Given the description of an element on the screen output the (x, y) to click on. 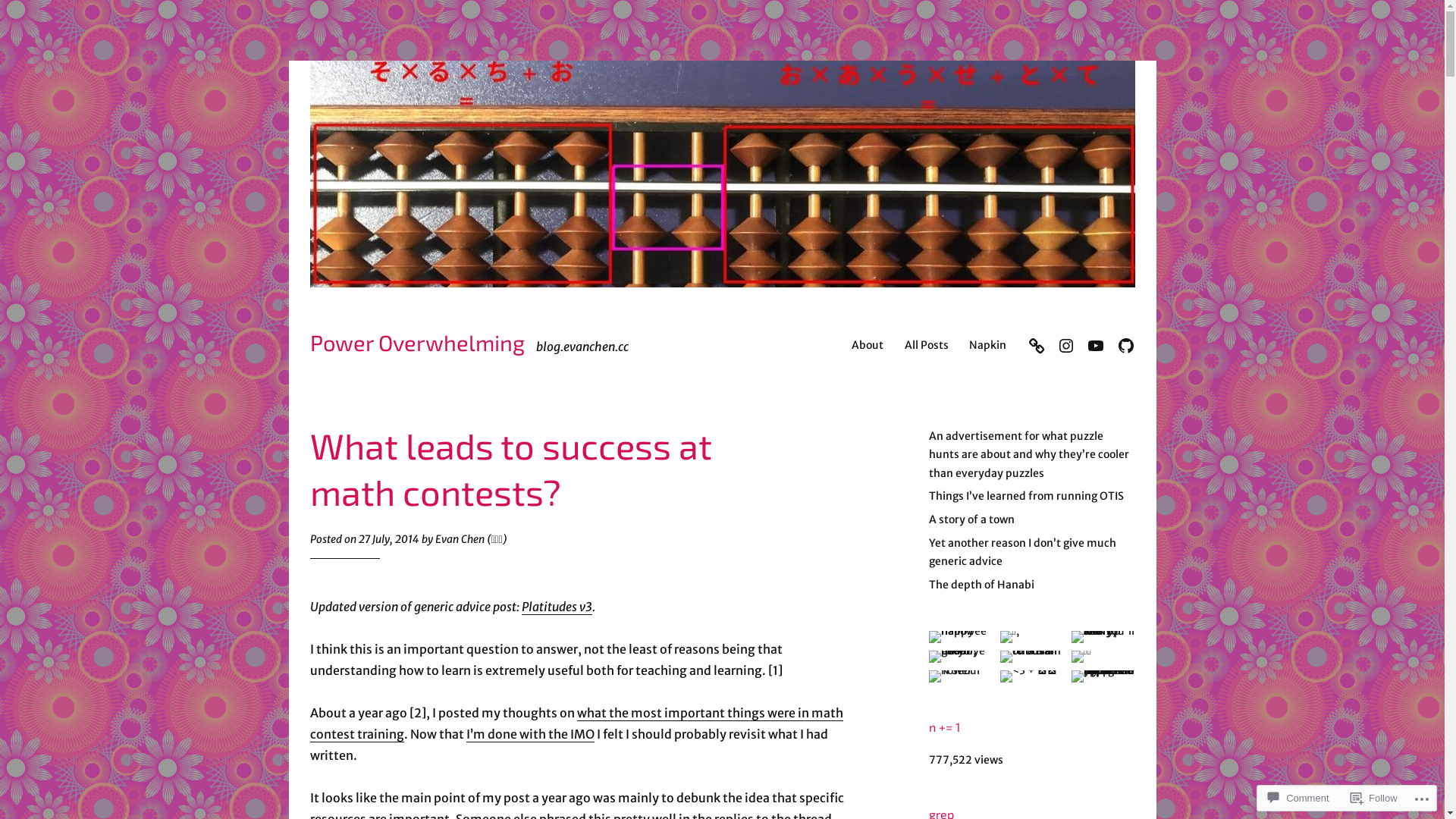
All Posts Element type: text (926, 344)
what the most important things were in math contest training Element type: text (575, 723)
About Element type: text (867, 344)
Comment Element type: text (1297, 797)
Platitudes v3 Element type: text (556, 606)
27 July, 2014 Element type: text (387, 539)
A story of a town Element type: text (970, 519)
Napkin Element type: text (987, 344)
Search Element type: text (19, 13)
Power Overwhelming Element type: text (416, 342)
The depth of Hanabi Element type: text (980, 584)
Follow Element type: text (1373, 797)
